Given the description of an element on the screen output the (x, y) to click on. 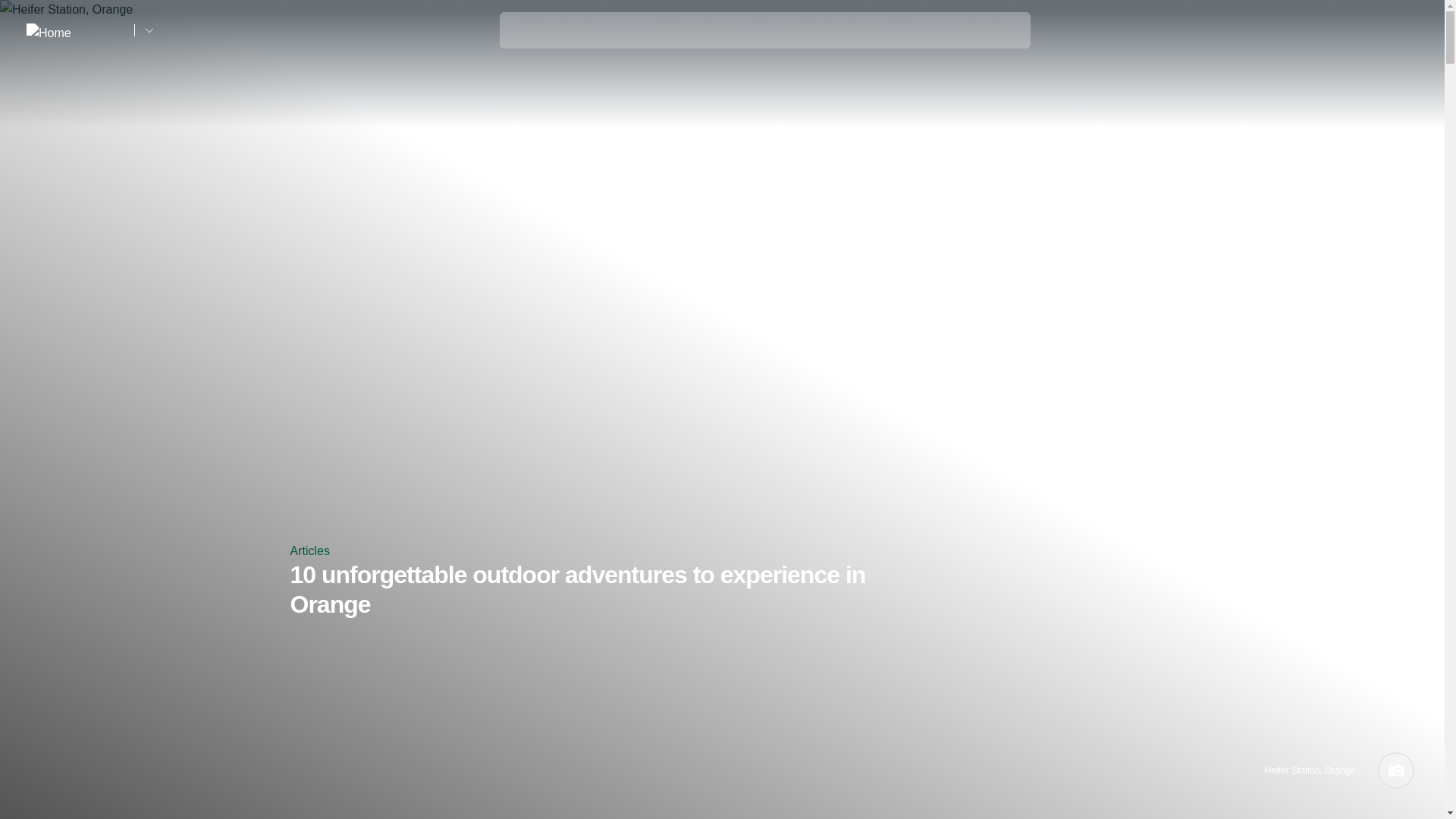
Submit the search query. (520, 27)
Toggle navigation (1407, 31)
Open (1407, 29)
Home (74, 29)
Go to (148, 30)
